Given the description of an element on the screen output the (x, y) to click on. 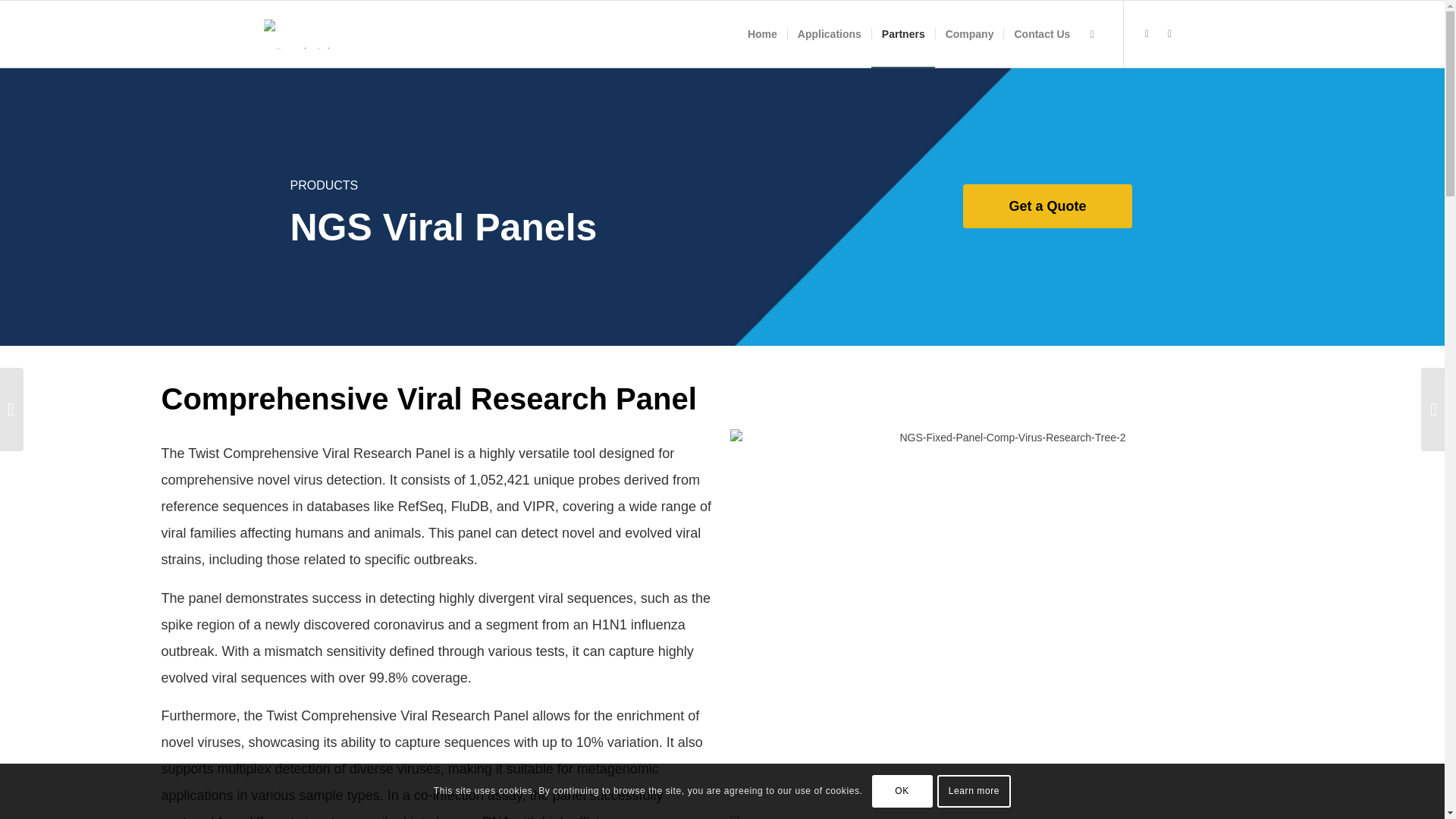
Partners (902, 33)
Applications (828, 33)
LinkedIn (1169, 33)
X (1146, 33)
